Given the description of an element on the screen output the (x, y) to click on. 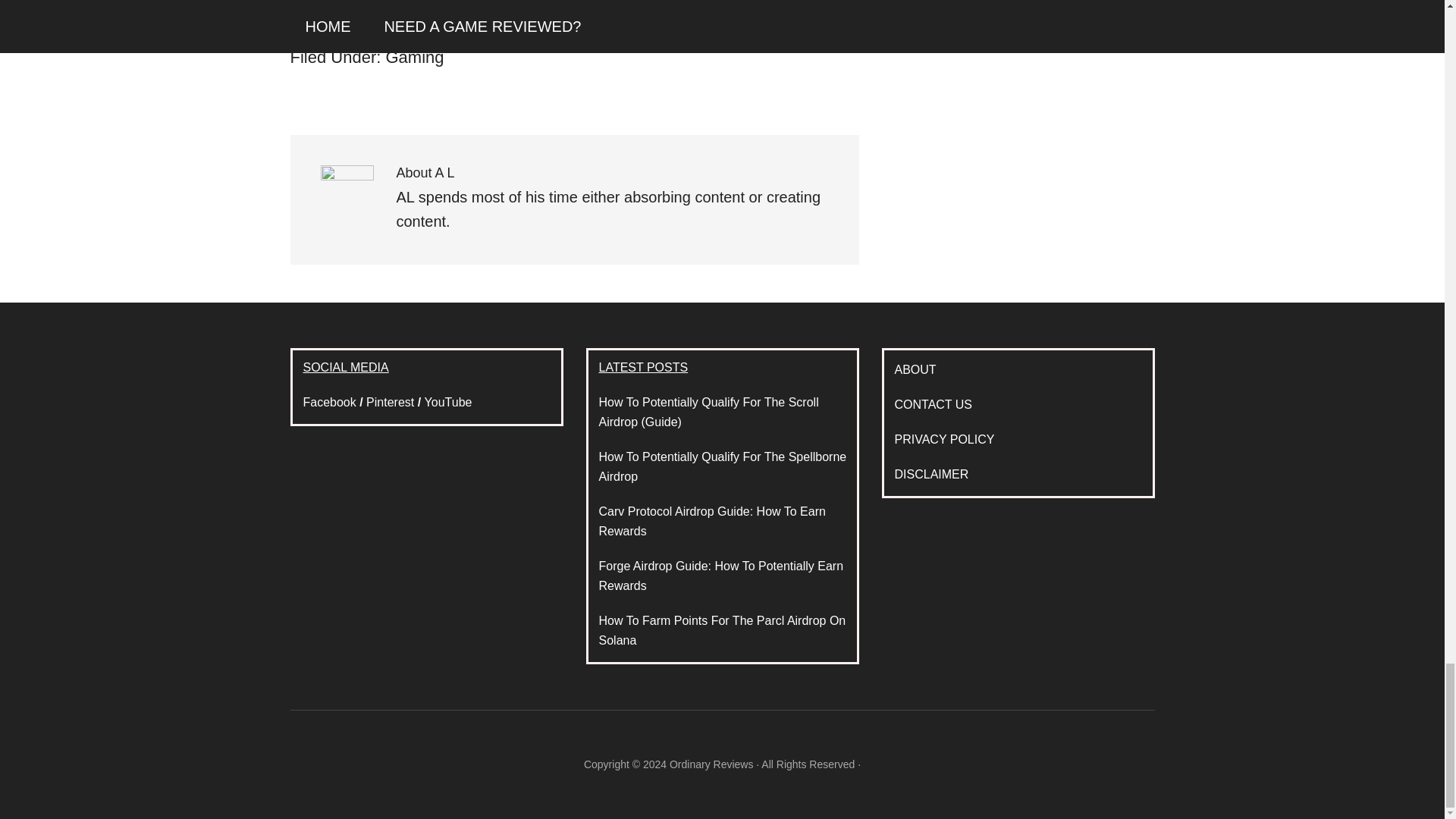
How To Potentially Qualify For The Spellborne Airdrop (722, 466)
Facebook (329, 401)
Carv Protocol Airdrop Guide: How To Earn Rewards (711, 521)
Pinterest (389, 401)
Gaming (414, 56)
YouTube (448, 401)
